Given the description of an element on the screen output the (x, y) to click on. 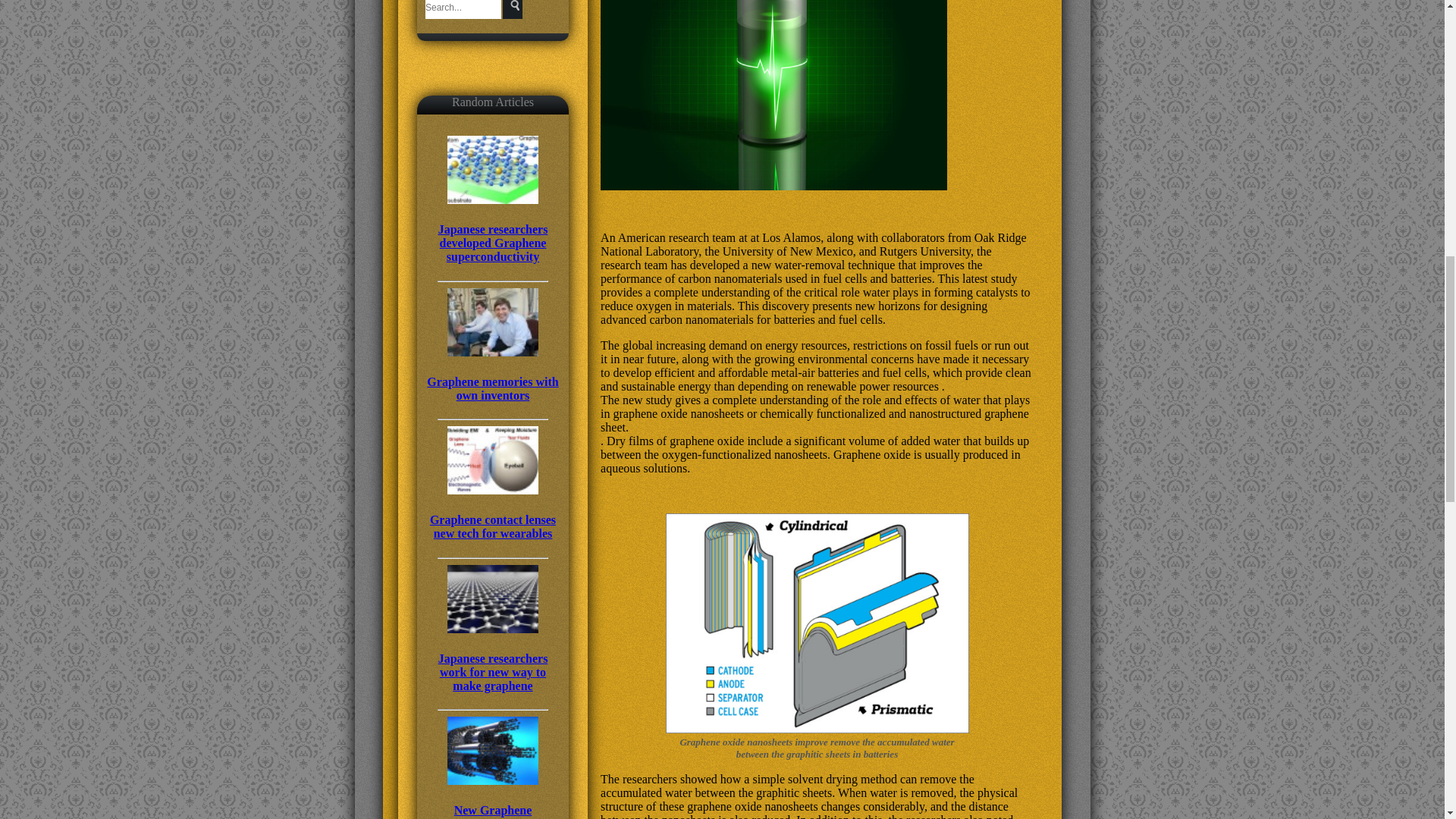
Japanese researchers work for new way to make graphene (492, 657)
Graphene memories with own inventors (492, 373)
Graphene contact lenses new tech for wearables (492, 512)
New Graphene composites for 3D Printing Uses (492, 796)
Japanese researchers developed Graphene superconductivity (492, 228)
